Given the description of an element on the screen output the (x, y) to click on. 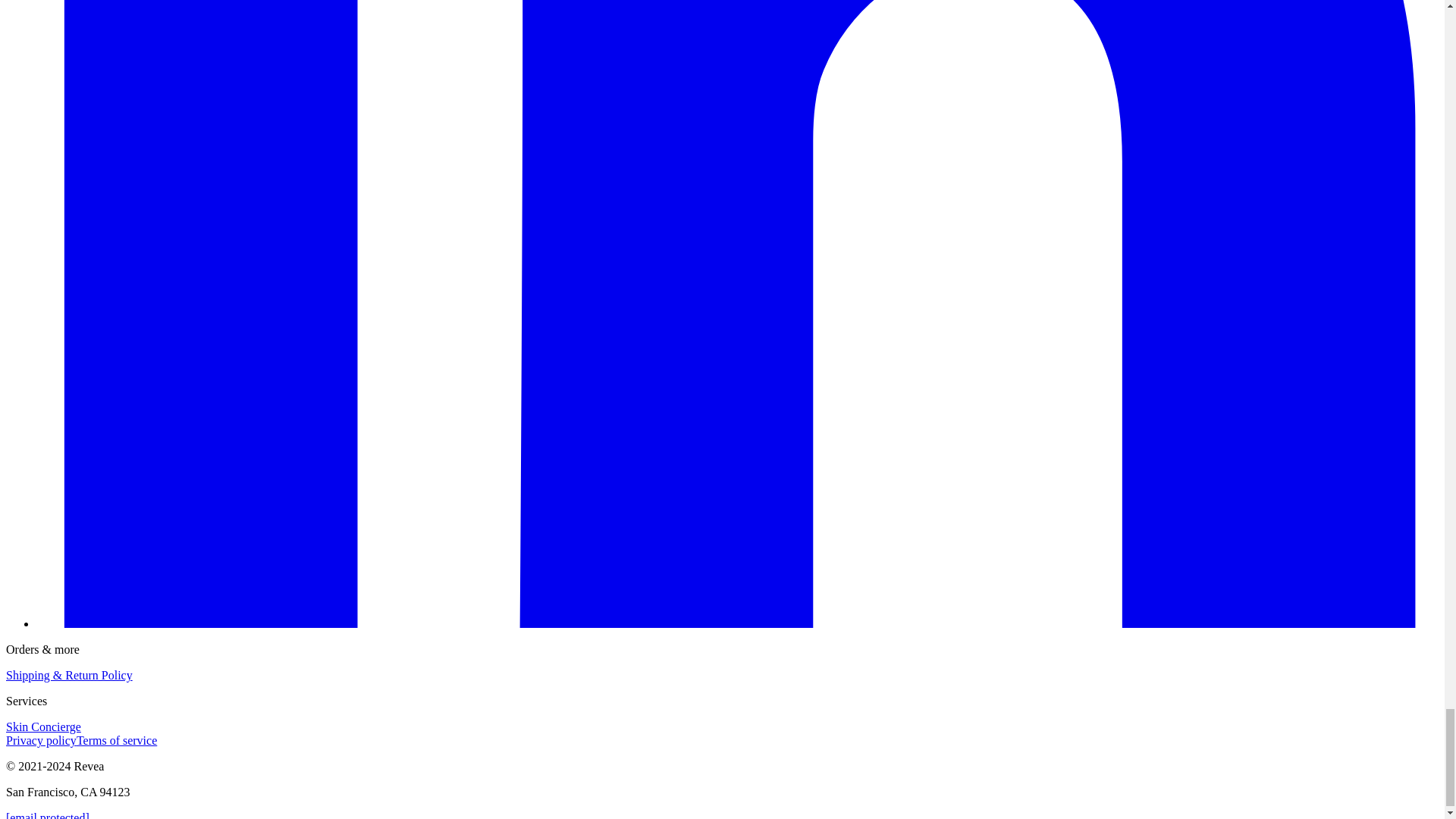
Privacy policy (41, 739)
Skin Concierge (43, 726)
Terms of service (117, 739)
